Given the description of an element on the screen output the (x, y) to click on. 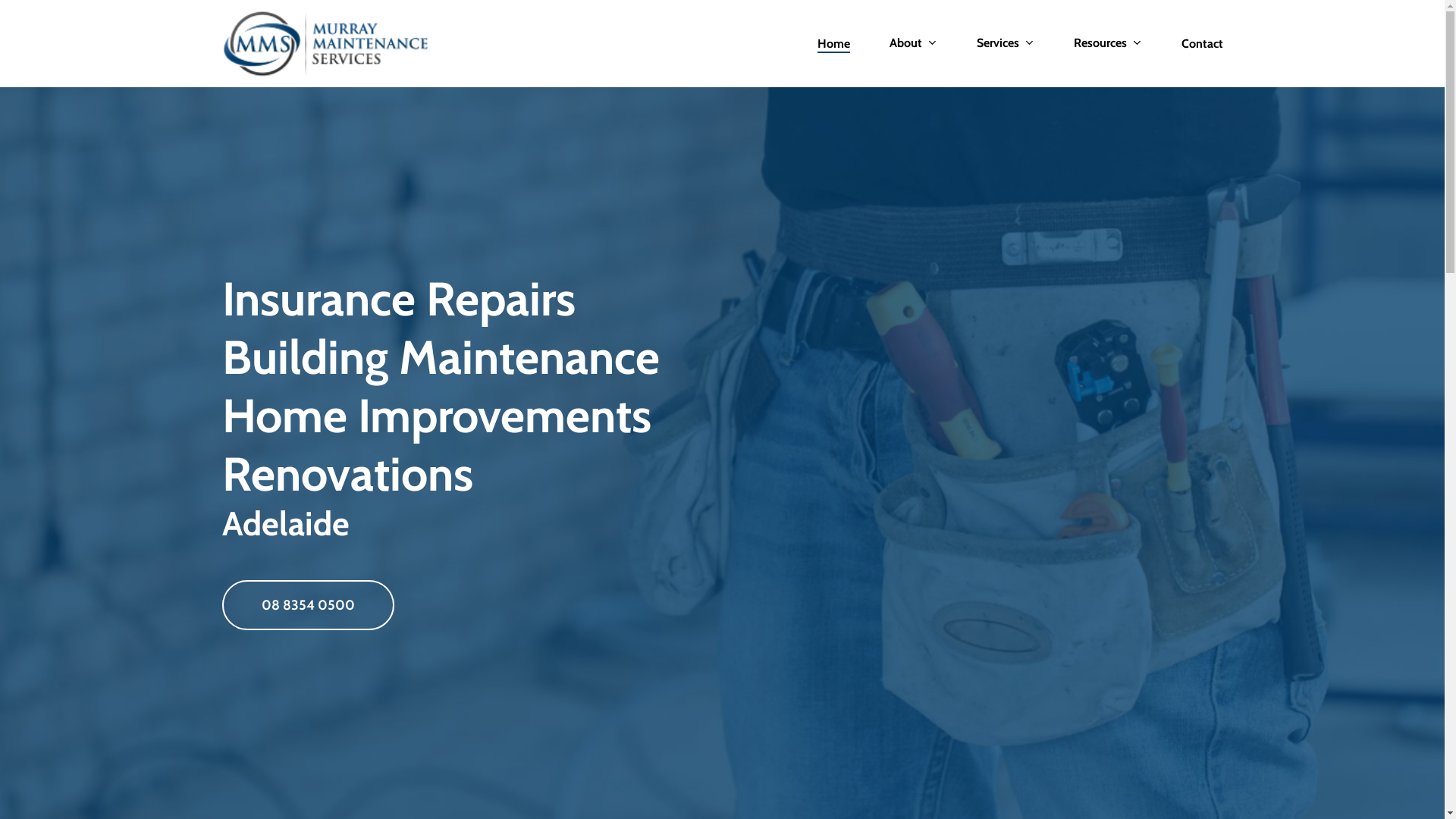
Resources Element type: text (1107, 43)
Home Element type: text (833, 43)
08 8354 0500 Element type: text (307, 604)
Services Element type: text (1005, 43)
About Element type: text (912, 43)
Contact Element type: text (1202, 43)
